Given the description of an element on the screen output the (x, y) to click on. 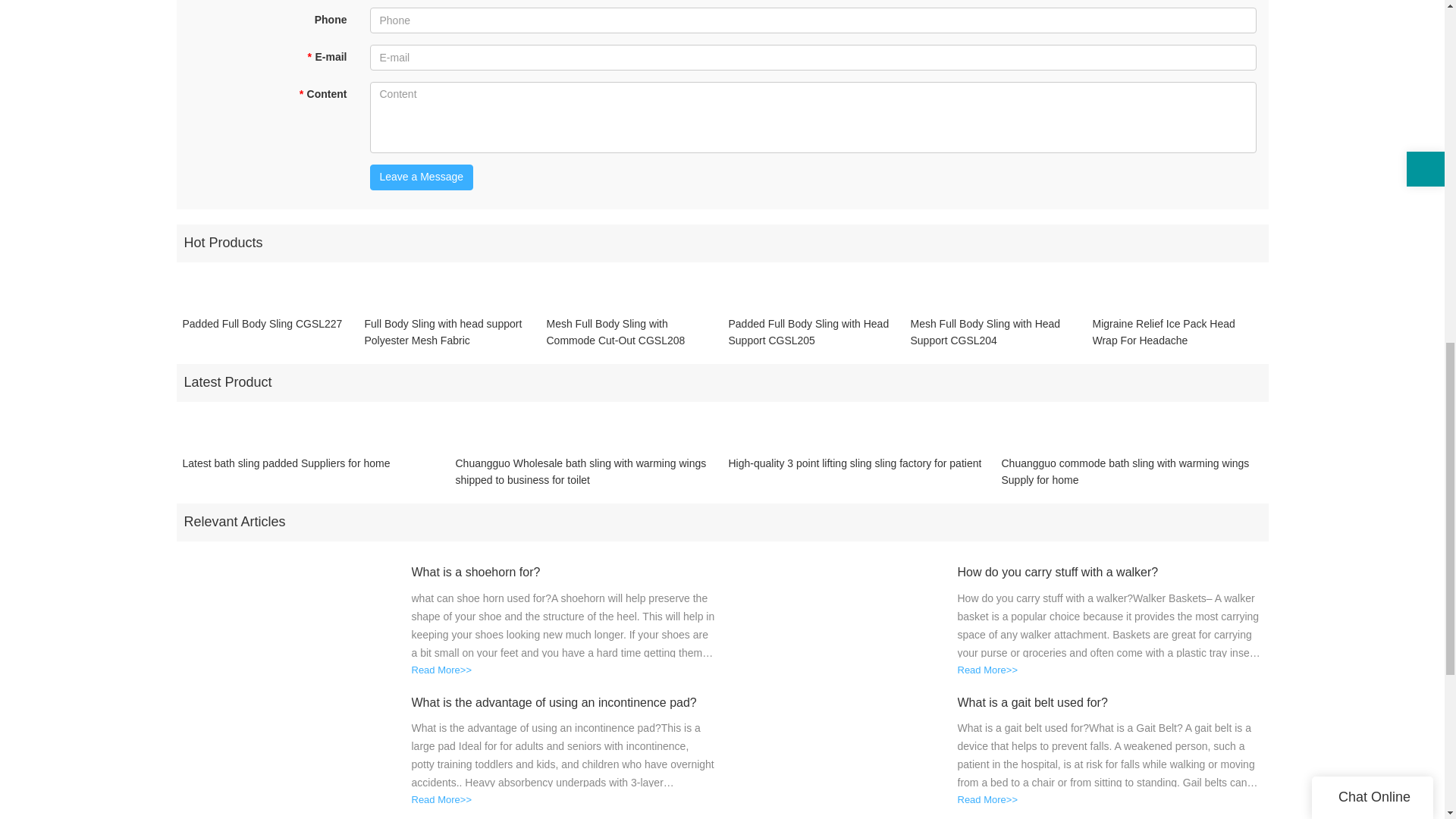
Leave a Message (421, 177)
What is the advantage of using an incontinence pad? (562, 702)
How do you carry stuff with a walker? (1108, 572)
Mesh Full Body Sling with Commode Cut-Out CGSL208 (631, 331)
Latest bath sling padded Suppliers for home (286, 471)
Padded Full Body Sling with Head Support CGSL205 (813, 331)
Mesh Full Body Sling with Head Support CGSL204 (995, 331)
High-quality 3 point lifting sling sling factory for patient (854, 471)
What is a shoehorn for? (562, 572)
Full Body Sling with head support Polyester Mesh Fabric (449, 331)
What is a gait belt used for? (1108, 702)
Migraine Relief Ice Pack Head Wrap For Headache (1177, 331)
Padded Full Body Sling CGSL227 (262, 331)
